Given the description of an element on the screen output the (x, y) to click on. 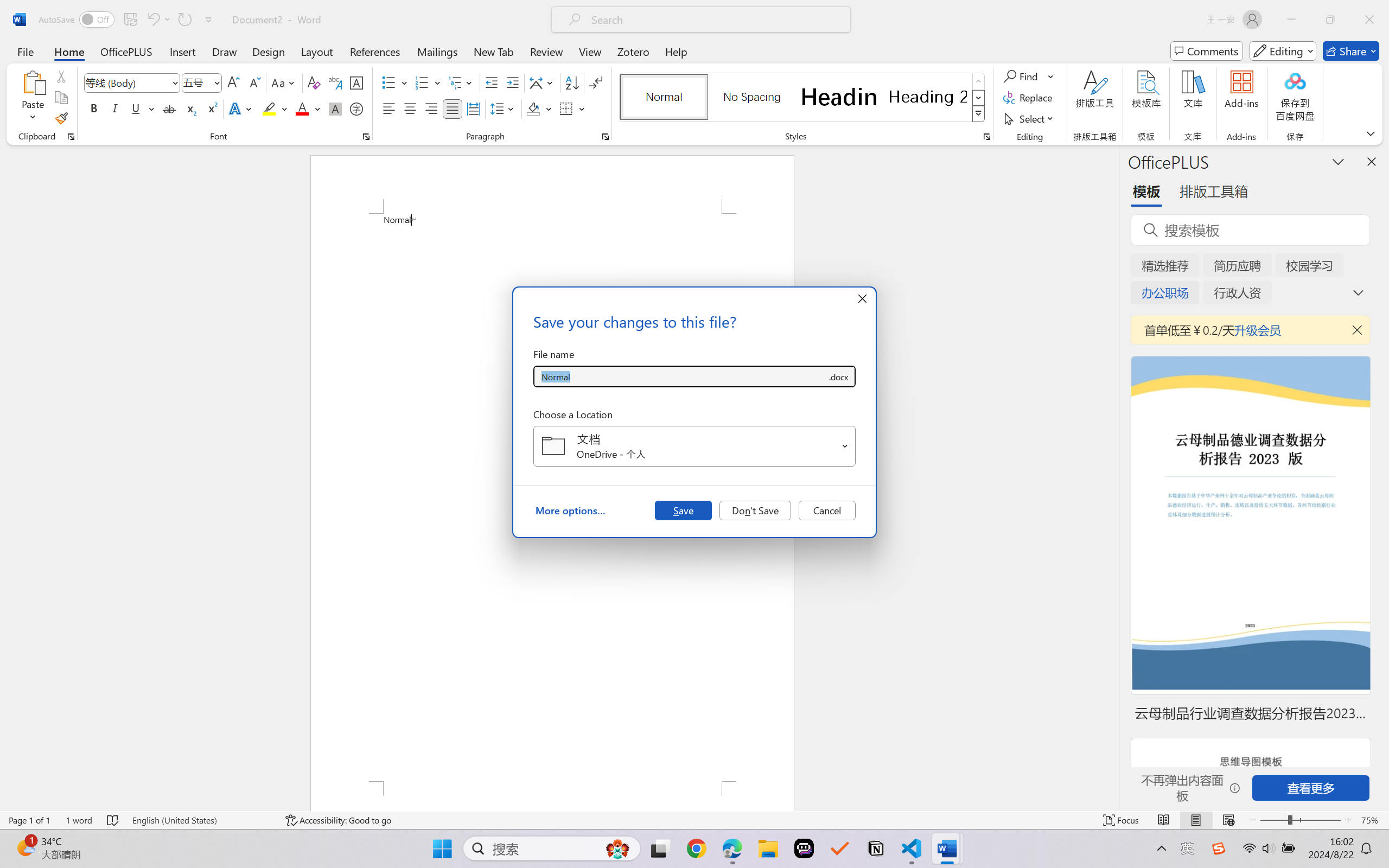
Comments (1206, 50)
Distributed (473, 108)
Bullets (395, 82)
AutomationID: QuickStylesGallery (802, 97)
Zoom In (1348, 819)
Borders (566, 108)
Undo Apply Quick Style (152, 19)
Change Case (284, 82)
Task Pane Options (1338, 161)
Styles... (986, 136)
